Given the description of an element on the screen output the (x, y) to click on. 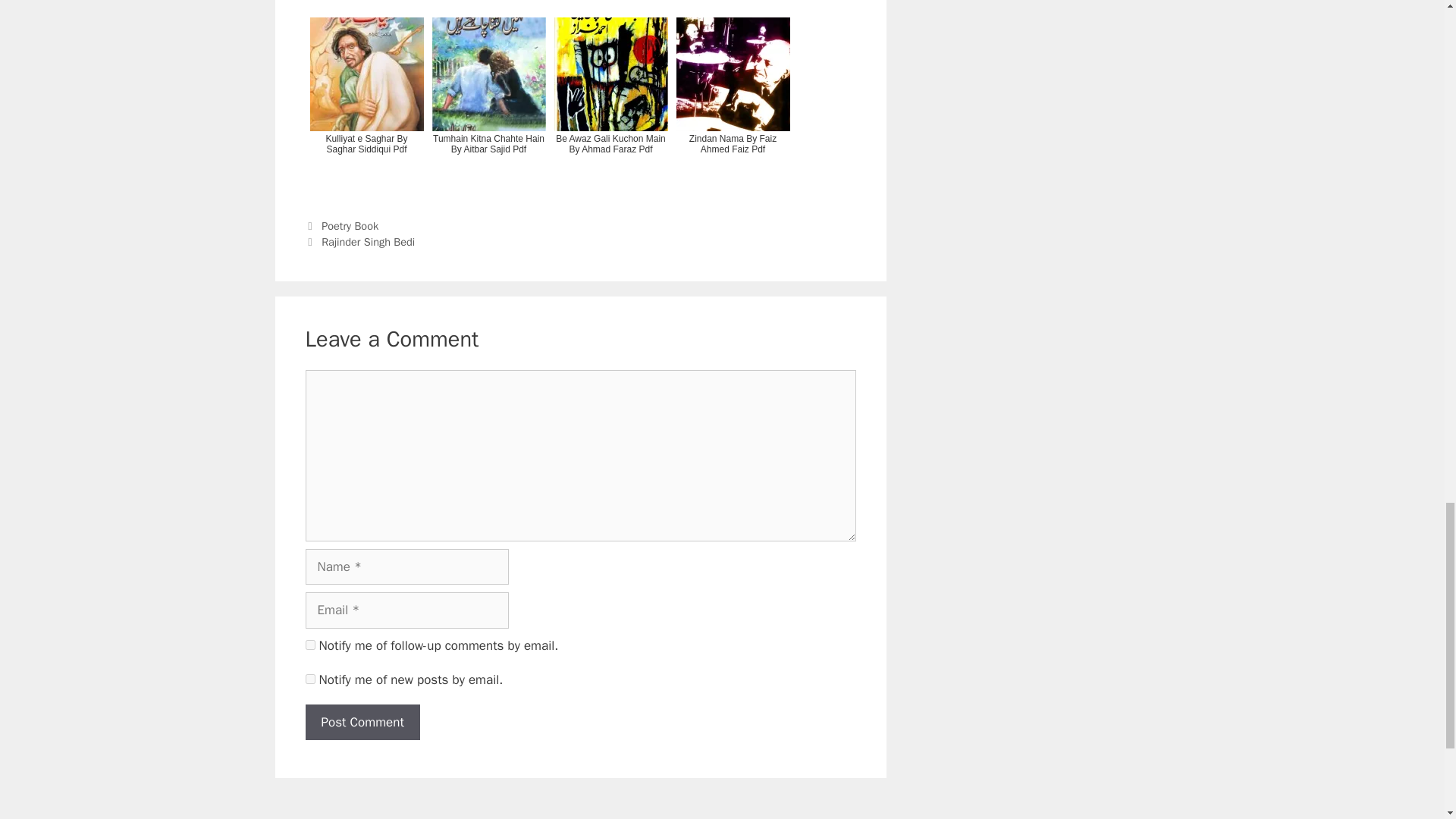
subscribe (309, 644)
Kulliyat e Bashir Badr By Bashir Badr Pdf (366, 4)
Maktoobat e Ishq By Syed Sher M Gilani Pdf (732, 4)
Post Comment (361, 722)
Rajinder Singh Bedi (367, 241)
Post Comment (361, 722)
Poetry Book (349, 225)
Ishq Ke Do Mausam By A G Josh Pdf Download (489, 4)
subscribe (309, 678)
Kulliyat e Hafeez Taib By Hafeez Taib Pdf (609, 4)
